Given the description of an element on the screen output the (x, y) to click on. 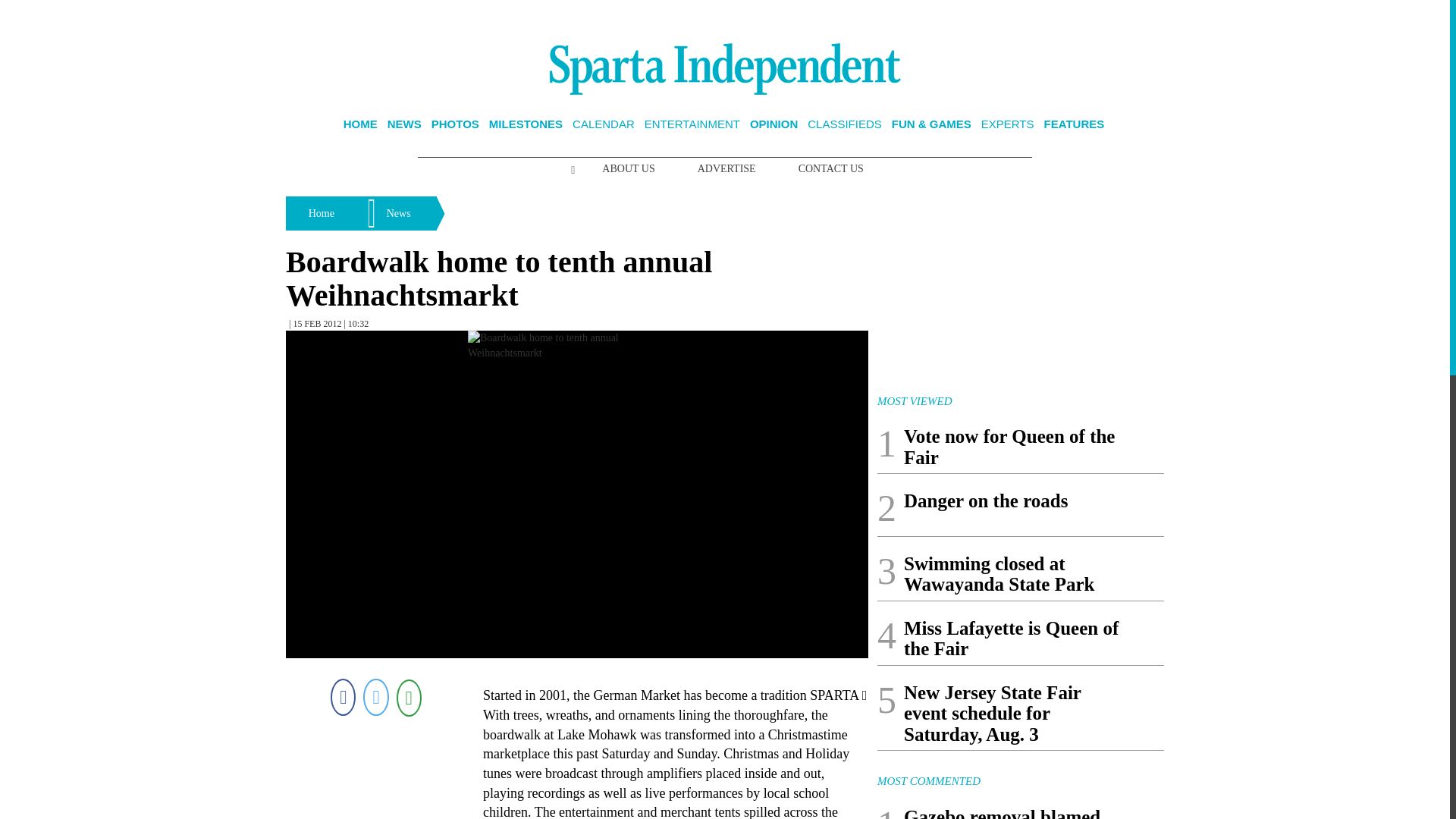
NEWS (404, 123)
CALENDAR (603, 123)
OPINION (773, 123)
EXPERTS (1007, 123)
ENTERTAINMENT (692, 123)
MILESTONES (525, 123)
HOME (360, 123)
CLASSIFIEDS (845, 123)
PHOTOS (454, 123)
FEATURES (1074, 123)
